Given the description of an element on the screen output the (x, y) to click on. 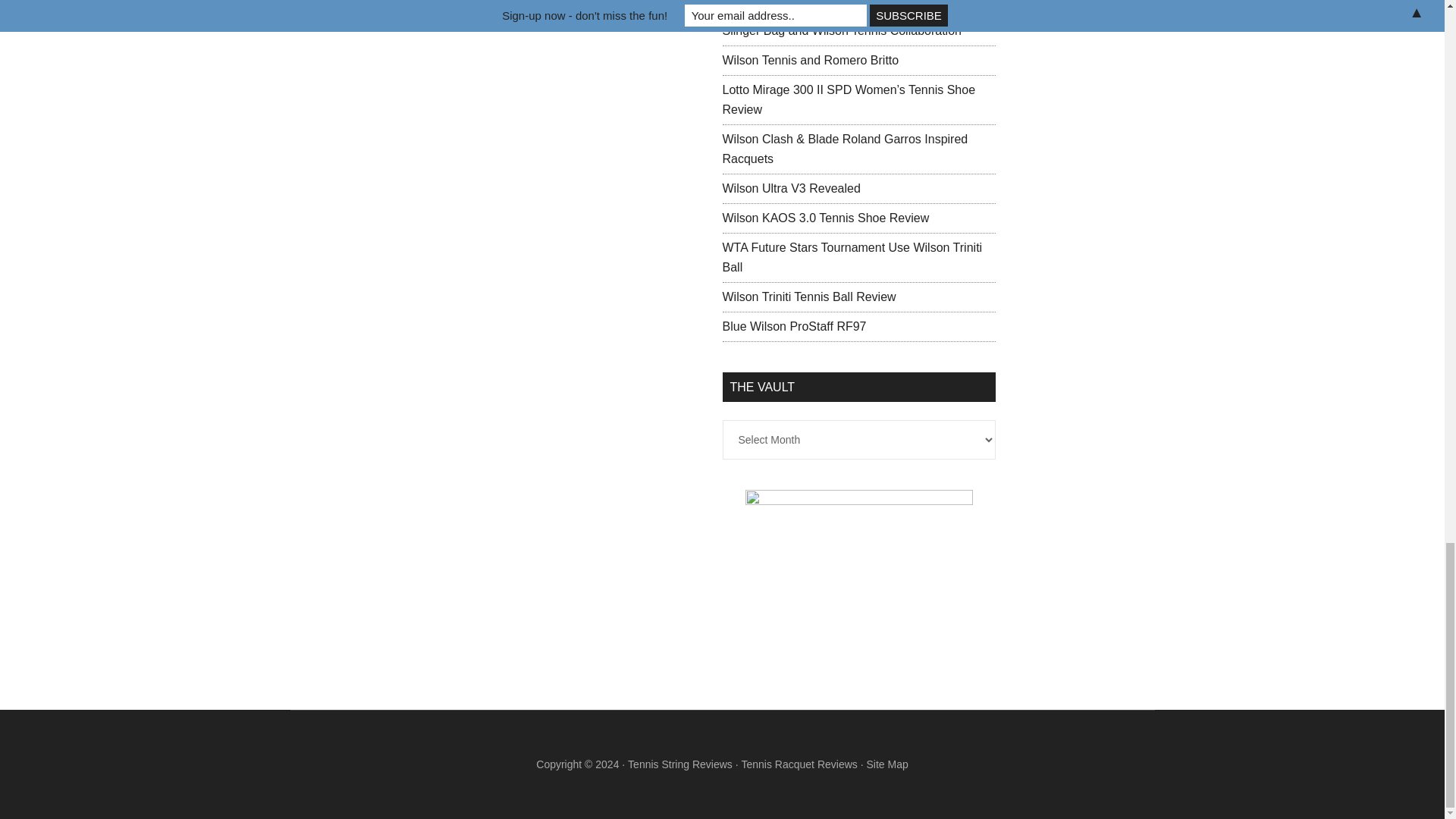
Site Map (886, 764)
